Given the description of an element on the screen output the (x, y) to click on. 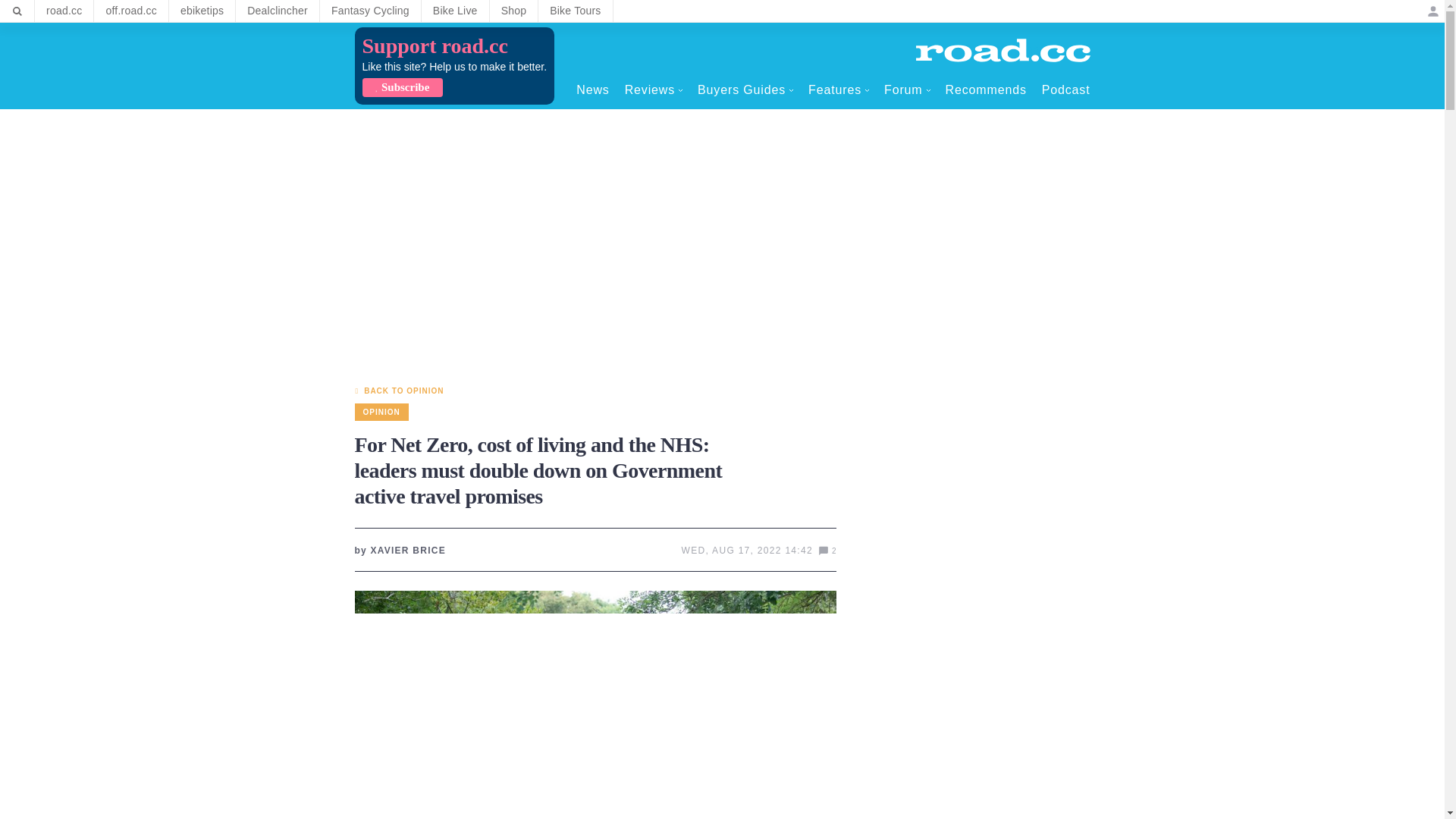
Bike Live (455, 11)
News (592, 89)
Dealclincher (276, 11)
Subscribe (402, 87)
Bike Tours (574, 11)
Shop (513, 11)
off.road.cc (131, 11)
ebiketips (201, 11)
Home (1002, 50)
Reviews (653, 89)
Fantasy Cycling (370, 11)
road.cc (63, 11)
